Given the description of an element on the screen output the (x, y) to click on. 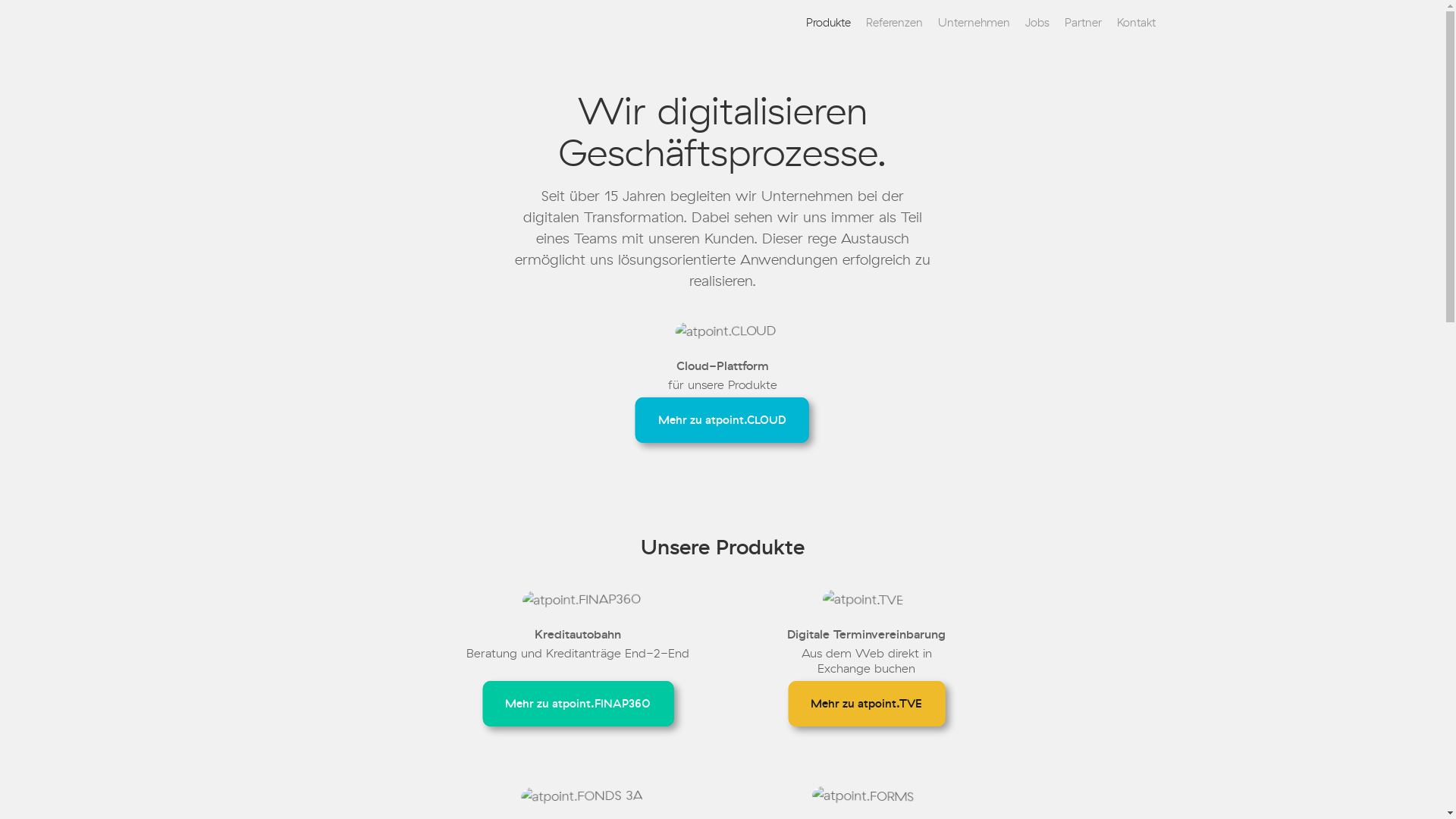
atpoint.FORMS Element type: hover (868, 796)
atpoint.FINAP360 Element type: hover (587, 599)
Kontakt Element type: text (1135, 22)
Unternehmen Element type: text (972, 22)
atpoint.CLOUD Element type: hover (730, 331)
Produkte Element type: text (827, 22)
atpoint.FONDS 3A Element type: hover (587, 795)
atpoint.TVE Element type: hover (866, 600)
Referenzen Element type: text (894, 22)
Partner Element type: text (1083, 22)
atpoint Element type: text (318, 22)
Jobs Element type: text (1037, 22)
